Given the description of an element on the screen output the (x, y) to click on. 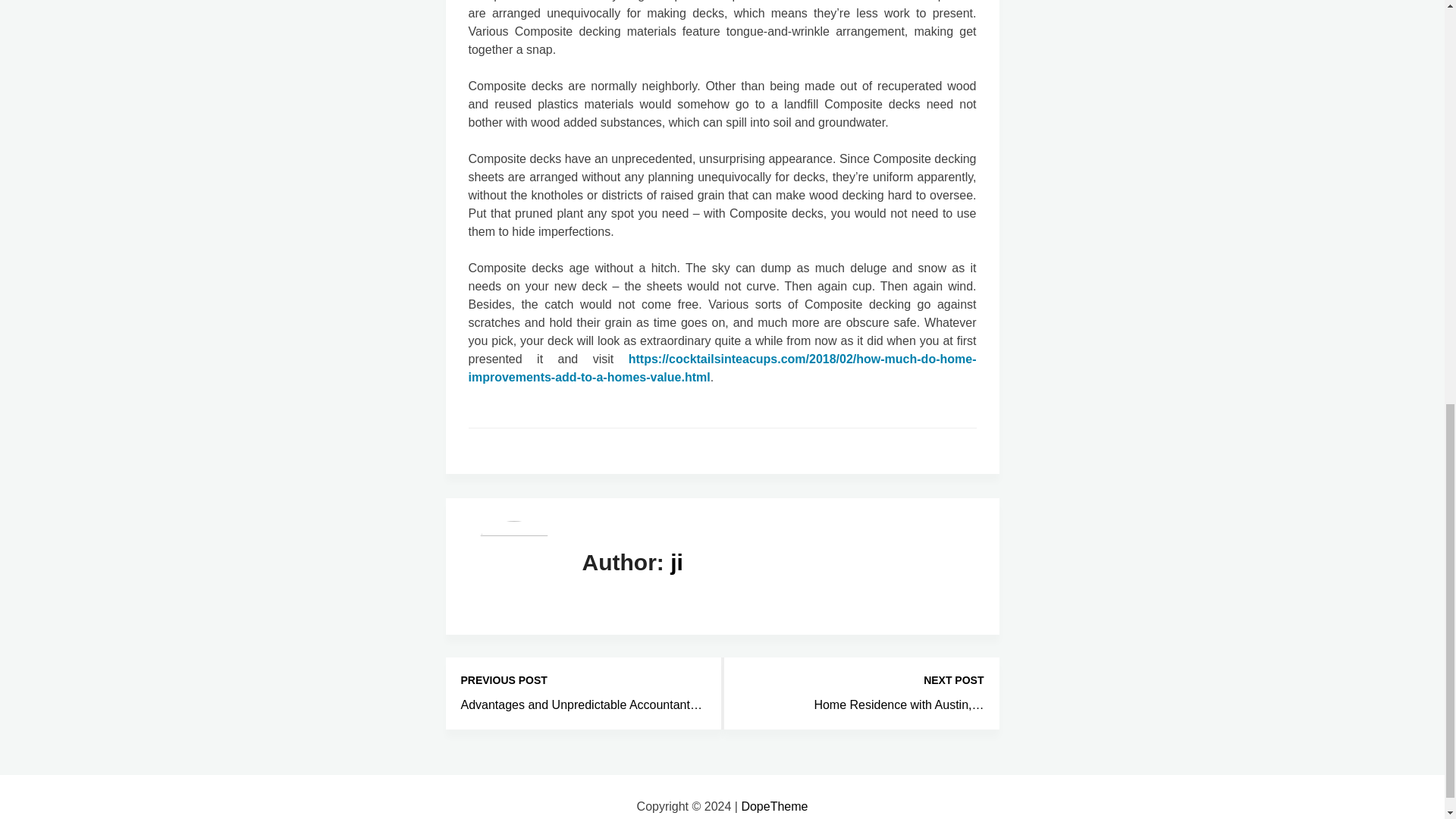
Home Residence with Austin, Texas Detoxing Ideas (898, 704)
Advantages and Unpredictable Accountant Properties (581, 704)
NEXT POST (861, 680)
DopeTheme (774, 806)
PREVIOUS POST (583, 680)
